Given the description of an element on the screen output the (x, y) to click on. 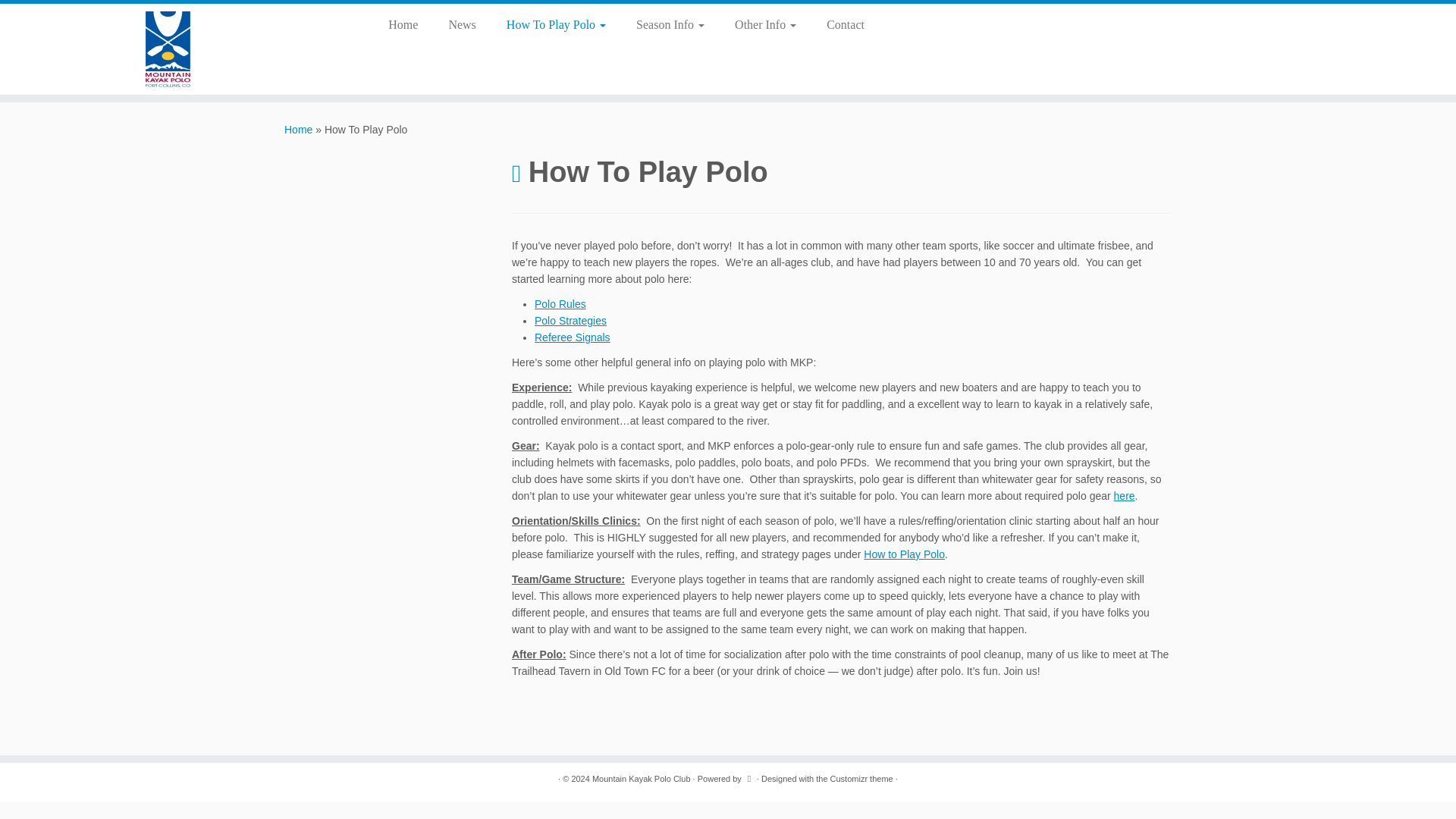
here (1124, 495)
Polo Strategies (570, 320)
Home (408, 24)
Season Info (670, 24)
How to Play Polo (903, 553)
News (461, 24)
Home (298, 129)
Contact (837, 24)
Referee Signals (572, 337)
How To Play Polo (556, 24)
